Given the description of an element on the screen output the (x, y) to click on. 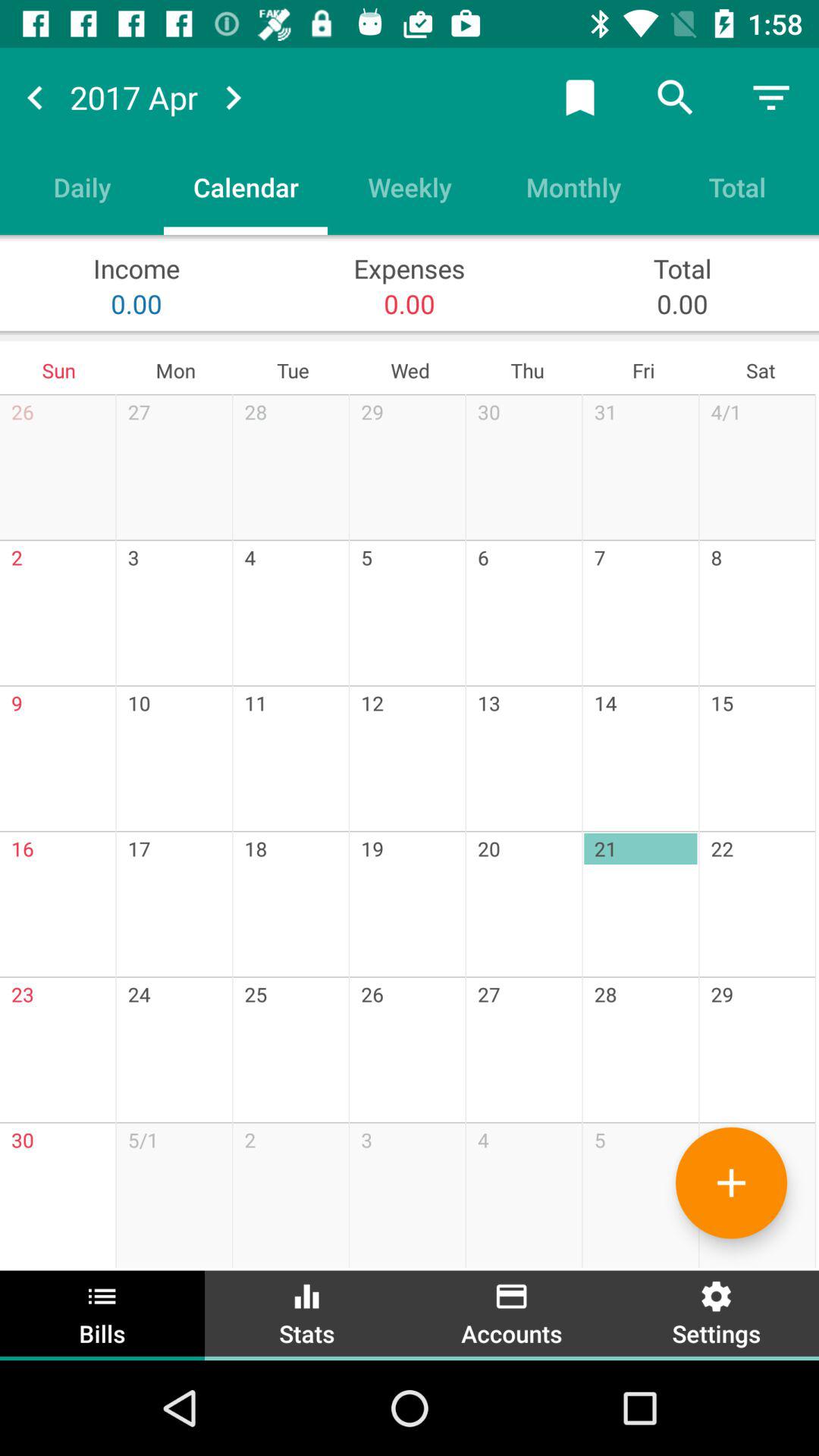
click the item to the left of the total item (573, 186)
